Given the description of an element on the screen output the (x, y) to click on. 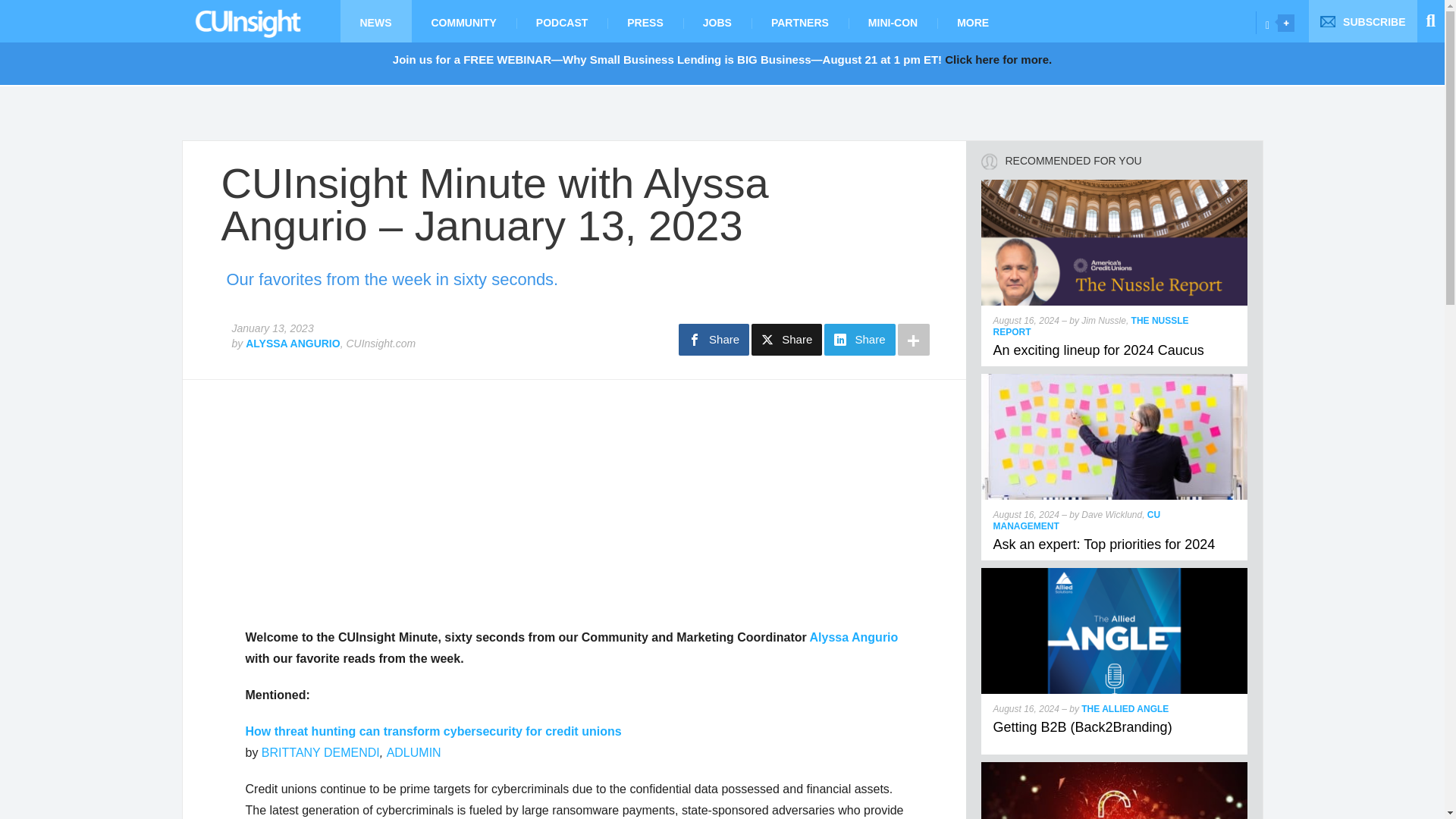
Share (859, 339)
NEWS (374, 21)
Ask an expert: Top priorities for 2024 (1114, 379)
JOBS (716, 21)
PARTNERS (799, 21)
ALYSSA ANGURIO (292, 343)
Ask an expert: Top priorities for 2024 (1103, 544)
Share (786, 339)
MINI-CON (892, 21)
